Given the description of an element on the screen output the (x, y) to click on. 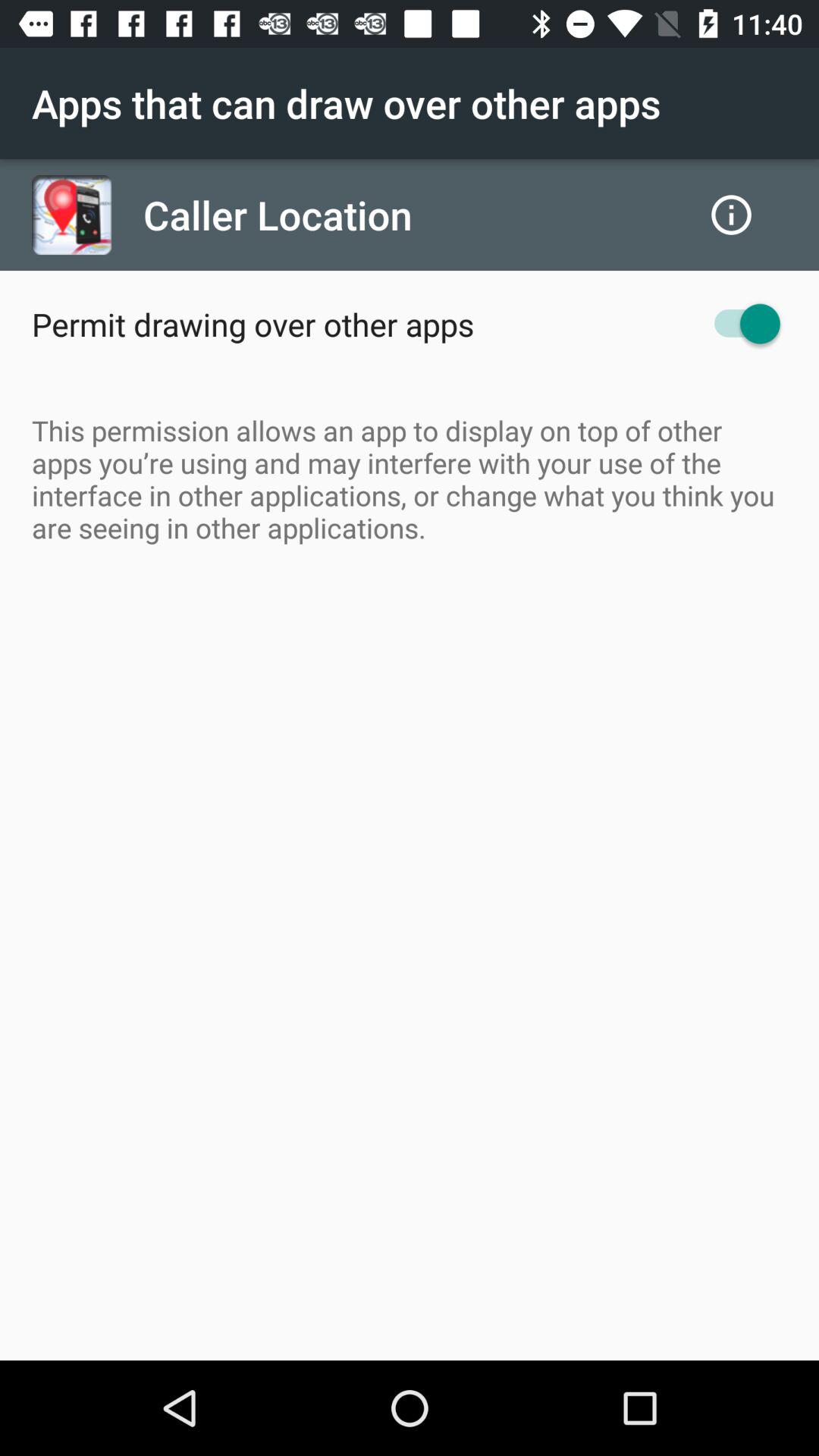
click item above this permission allows (252, 323)
